Given the description of an element on the screen output the (x, y) to click on. 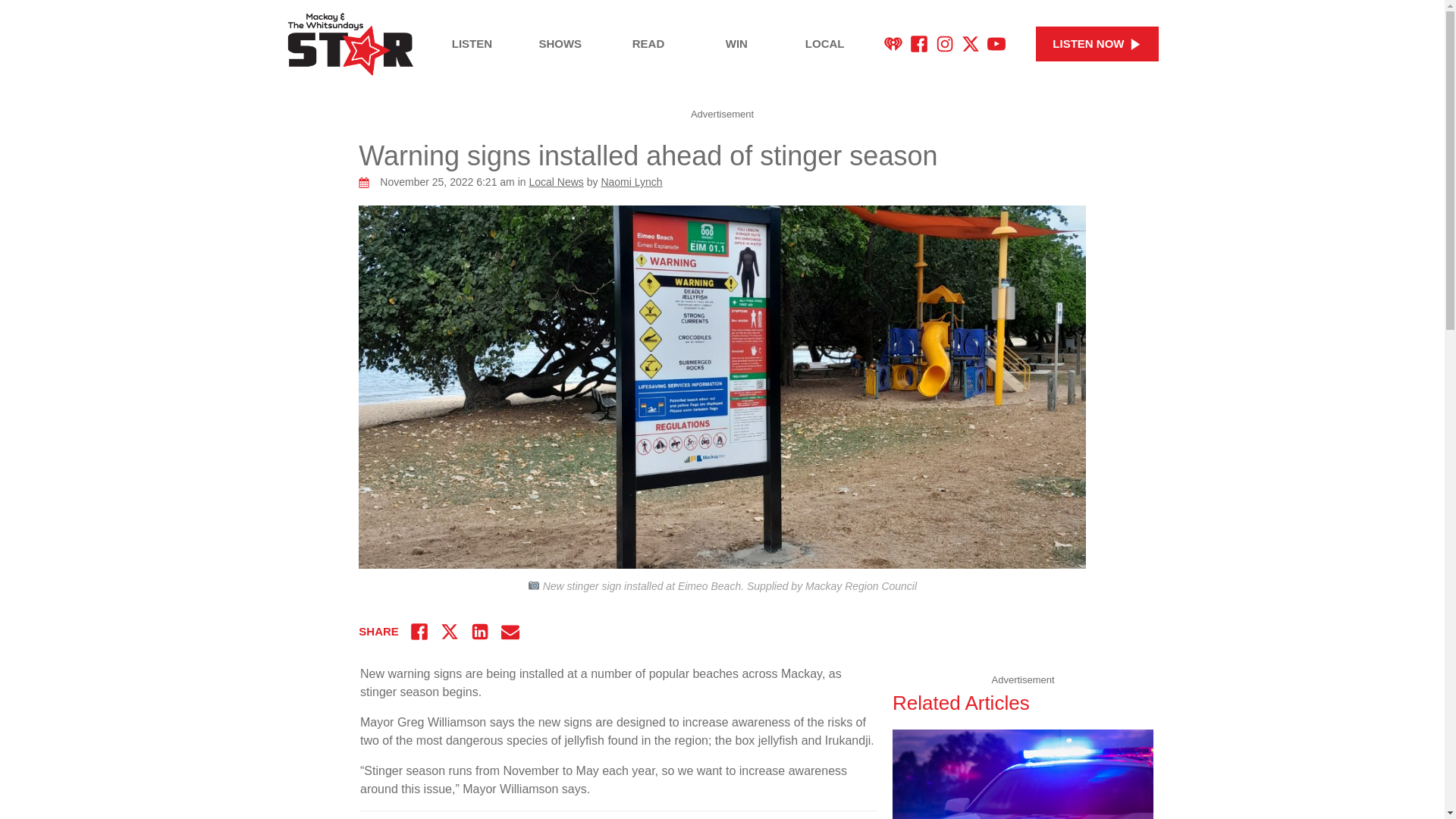
LISTEN NOW (1096, 44)
LISTEN (471, 43)
LOCAL (824, 43)
SHOWS (560, 43)
Instagram (944, 44)
WIN (736, 43)
Facebook (919, 44)
READ (648, 43)
iHeart (892, 44)
YouTube (996, 44)
Posts by Naomi Lynch (630, 182)
